Given the description of an element on the screen output the (x, y) to click on. 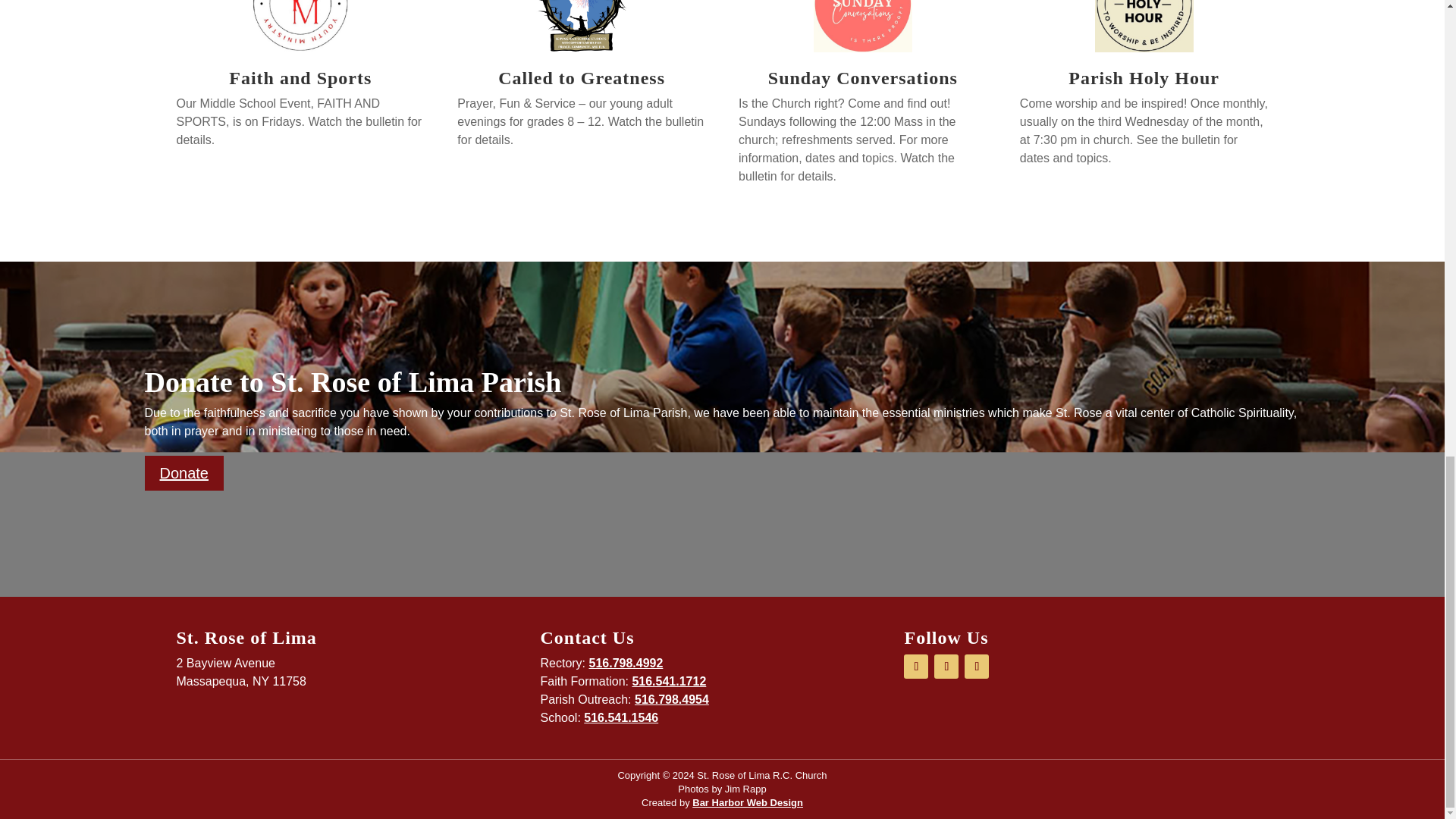
st-rose-of-lima-rc-church-made-for-greatness-logo (581, 26)
Follow on Facebook (916, 666)
st-rose-of-lima-rc-church-sunday-conversations-logo (862, 26)
Follow on Youtube (946, 666)
st-rose-of-lima-rc-church-faith-and-sports-logo (299, 26)
Follow on Instagram (975, 666)
st-rose-of-lima-rc-church-parish-holy-hour-logo (1143, 26)
